Given the description of an element on the screen output the (x, y) to click on. 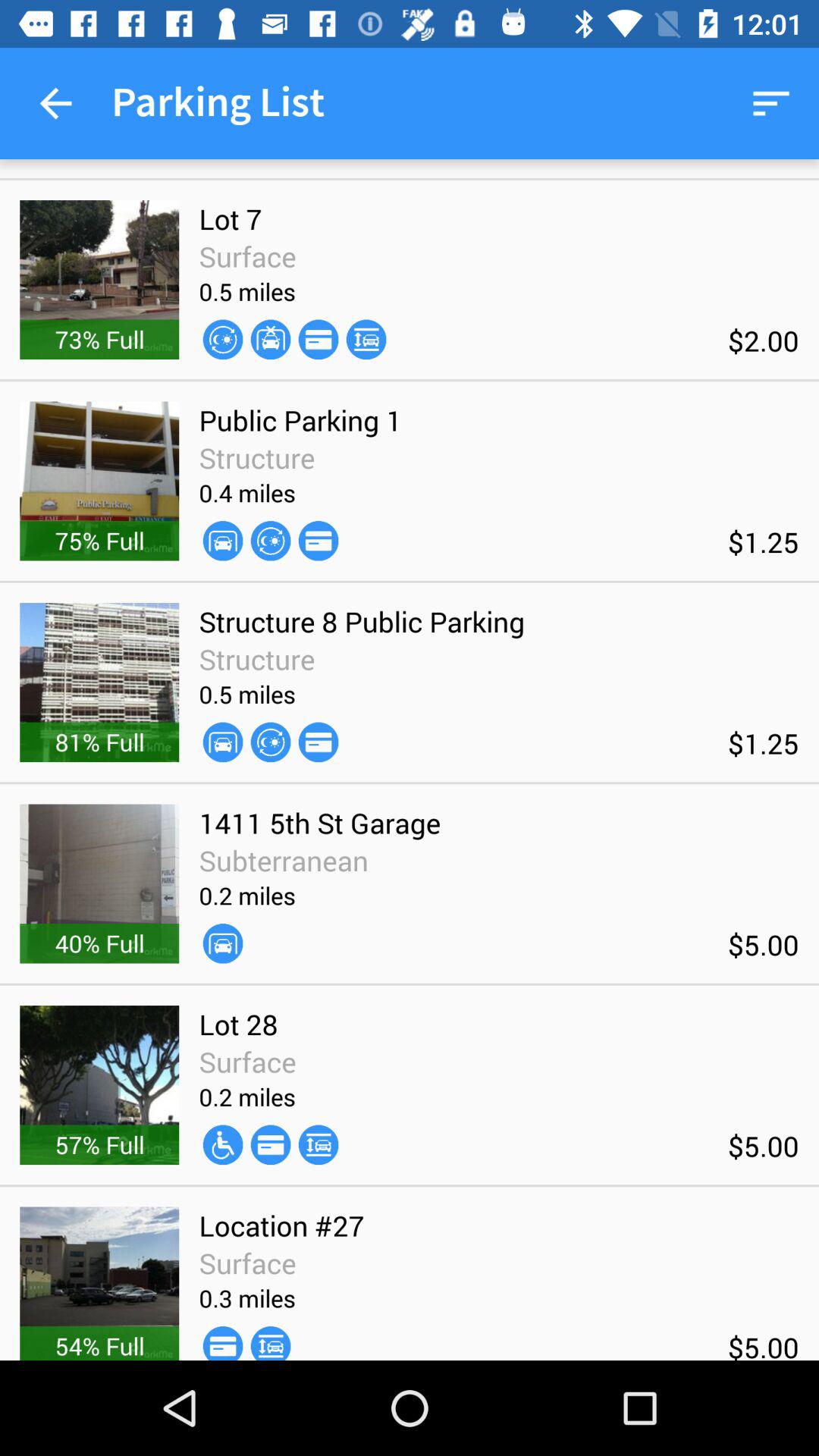
tap the item above 1411 5th st (318, 742)
